Given the description of an element on the screen output the (x, y) to click on. 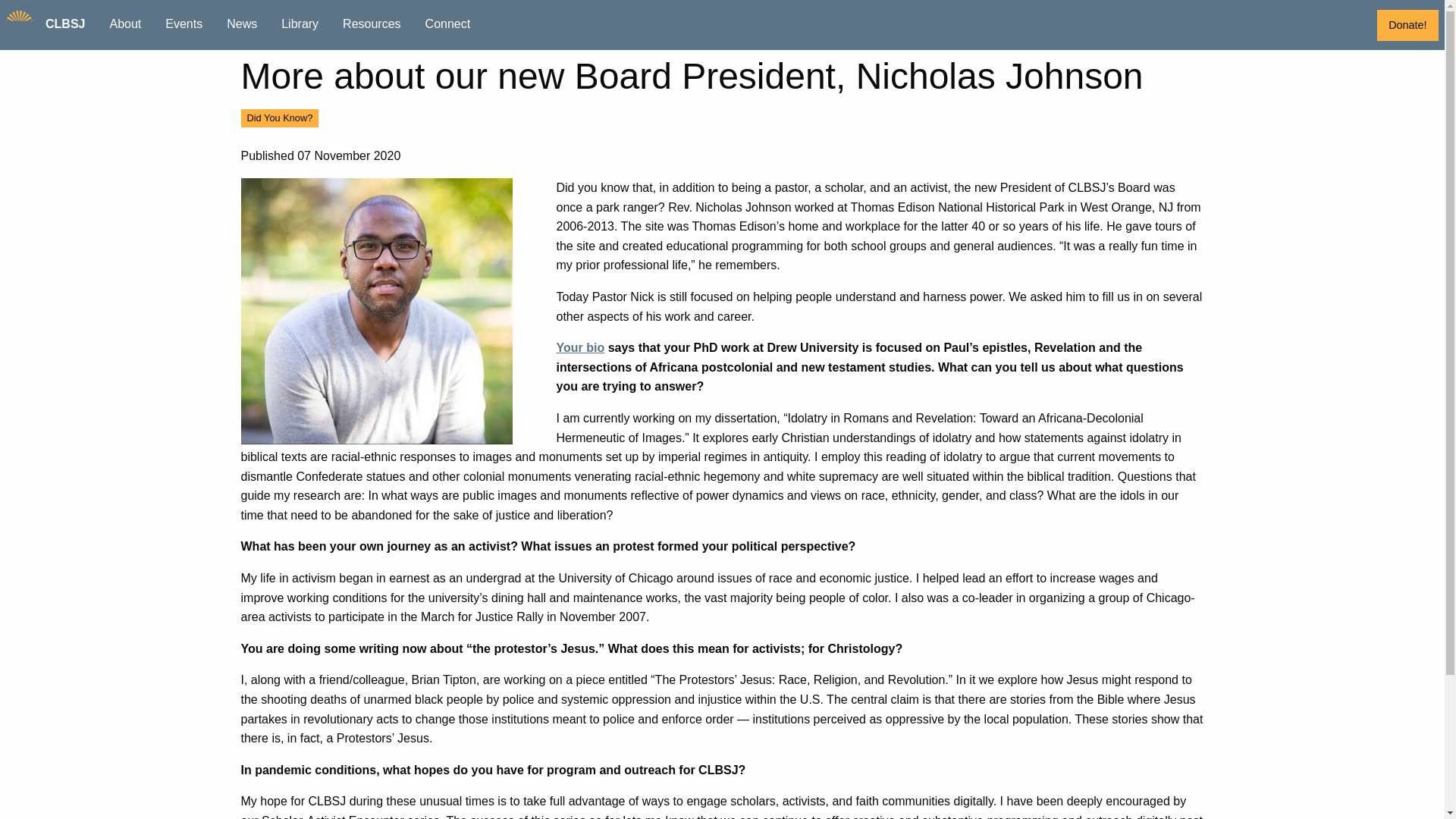
Donate! (1407, 24)
News (241, 23)
Did You Know? (280, 117)
Library (299, 23)
Events (183, 23)
Your bio (580, 347)
About (124, 23)
Resources (371, 23)
Connect (448, 23)
CLBSJ (65, 23)
